Given the description of an element on the screen output the (x, y) to click on. 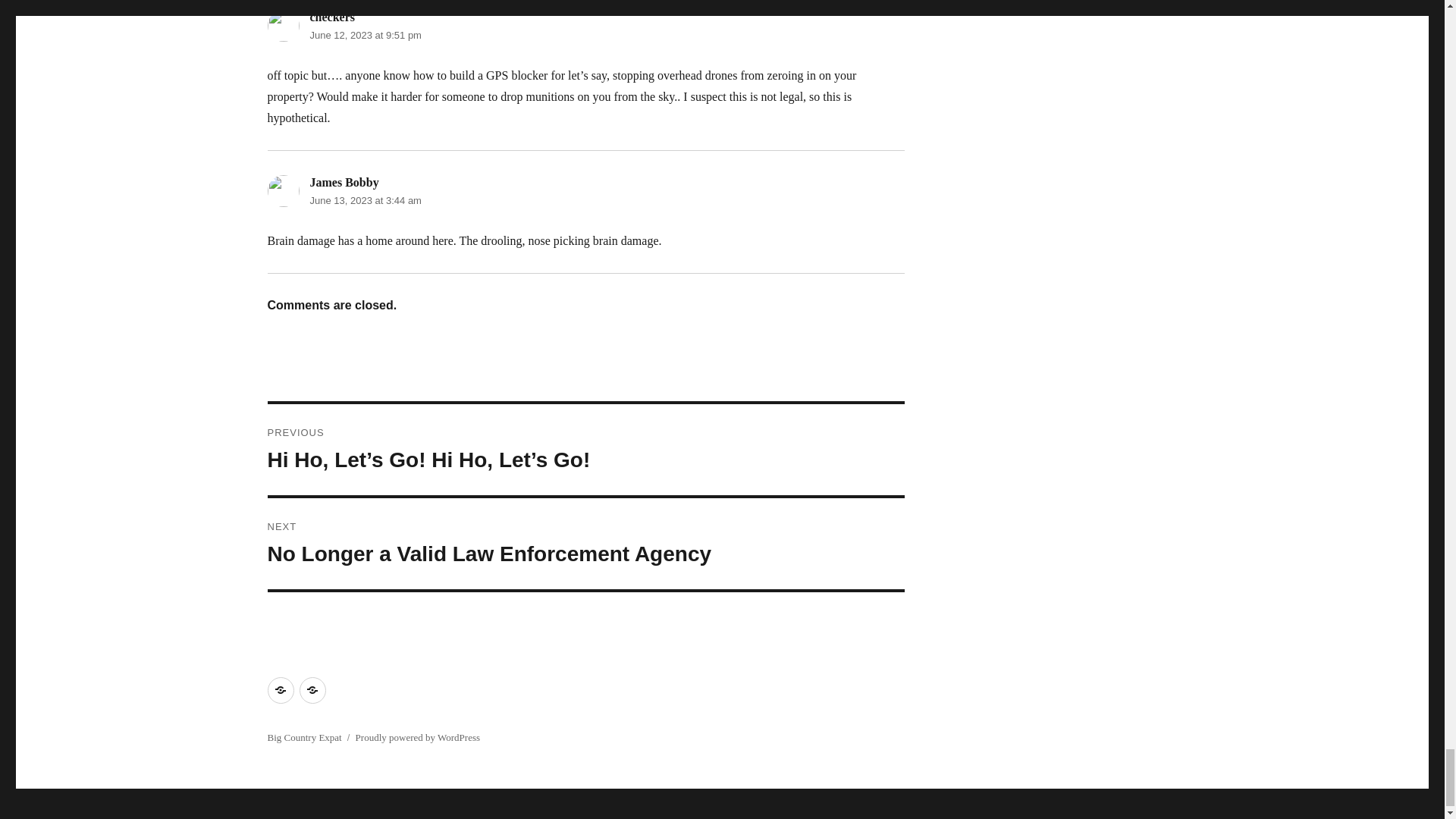
June 13, 2023 at 3:44 am (585, 542)
June 12, 2023 at 9:51 pm (364, 200)
